Given the description of an element on the screen output the (x, y) to click on. 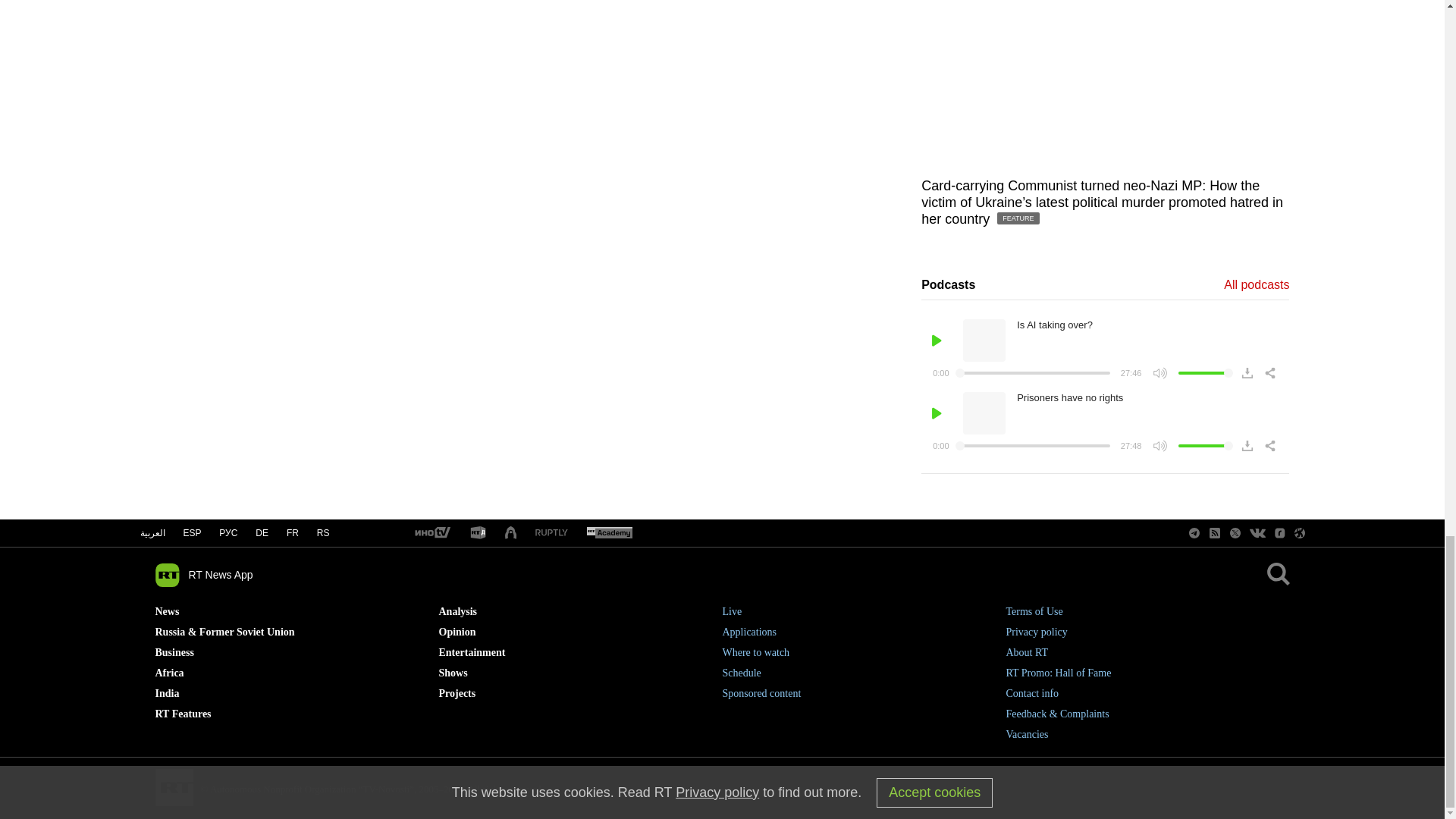
RT  (431, 533)
RT  (551, 533)
RT  (478, 533)
RT  (608, 533)
